Given the description of an element on the screen output the (x, y) to click on. 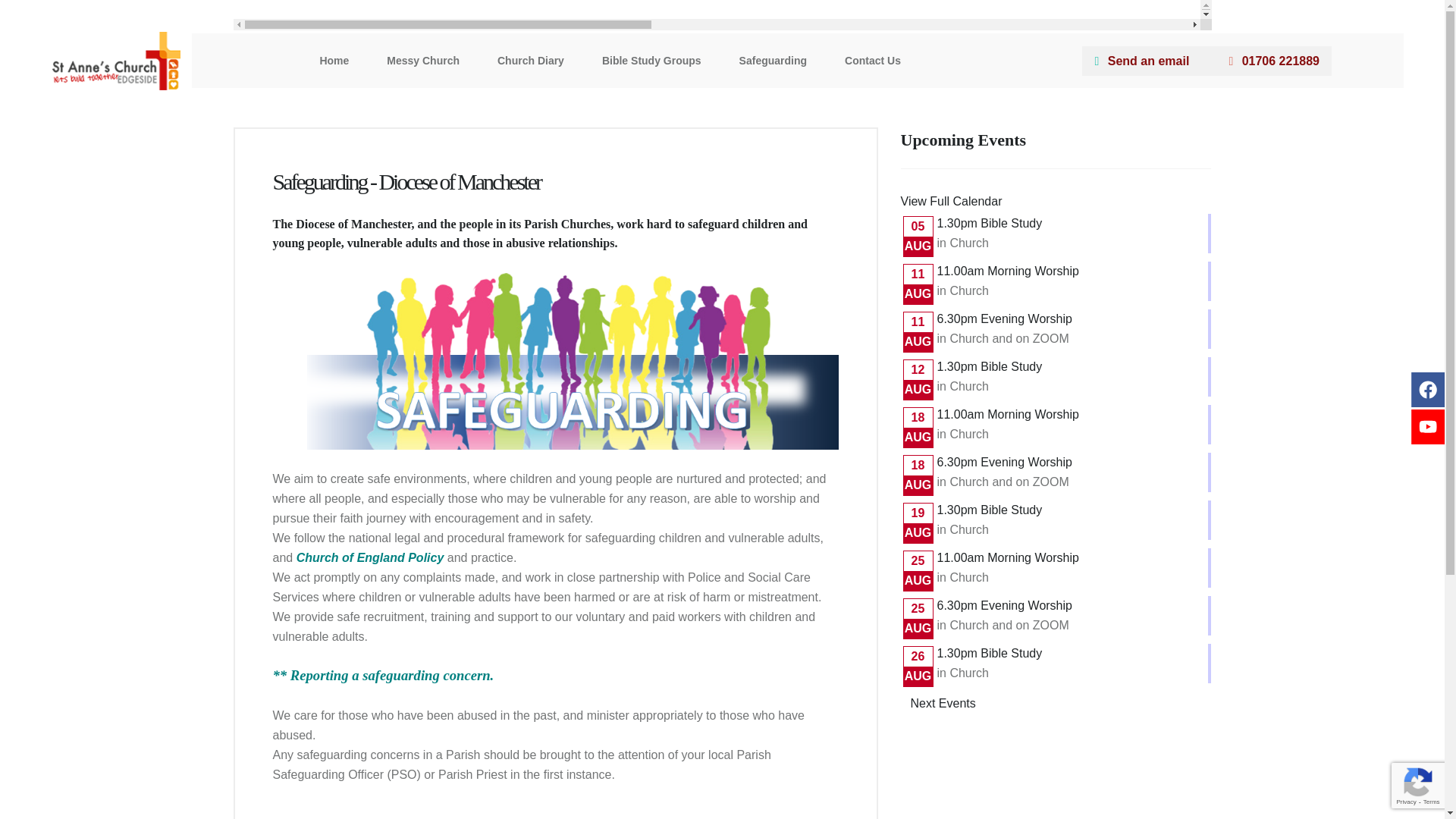
6.30pm Evening Worship (1004, 604)
Test (721, 15)
Next Events (943, 703)
Contact Us (872, 60)
11.00am Morning Worship (1007, 270)
Church Diary (531, 60)
Messy Church (423, 60)
01706 221889 (1273, 60)
1.30pm Bible Study (989, 223)
11.00am Morning Worship (1007, 557)
11.00am Morning Worship (1007, 413)
View Full Calendar (952, 201)
Bible Study Groups (651, 60)
1.30pm Bible Study (989, 509)
Home (333, 60)
